Given the description of an element on the screen output the (x, y) to click on. 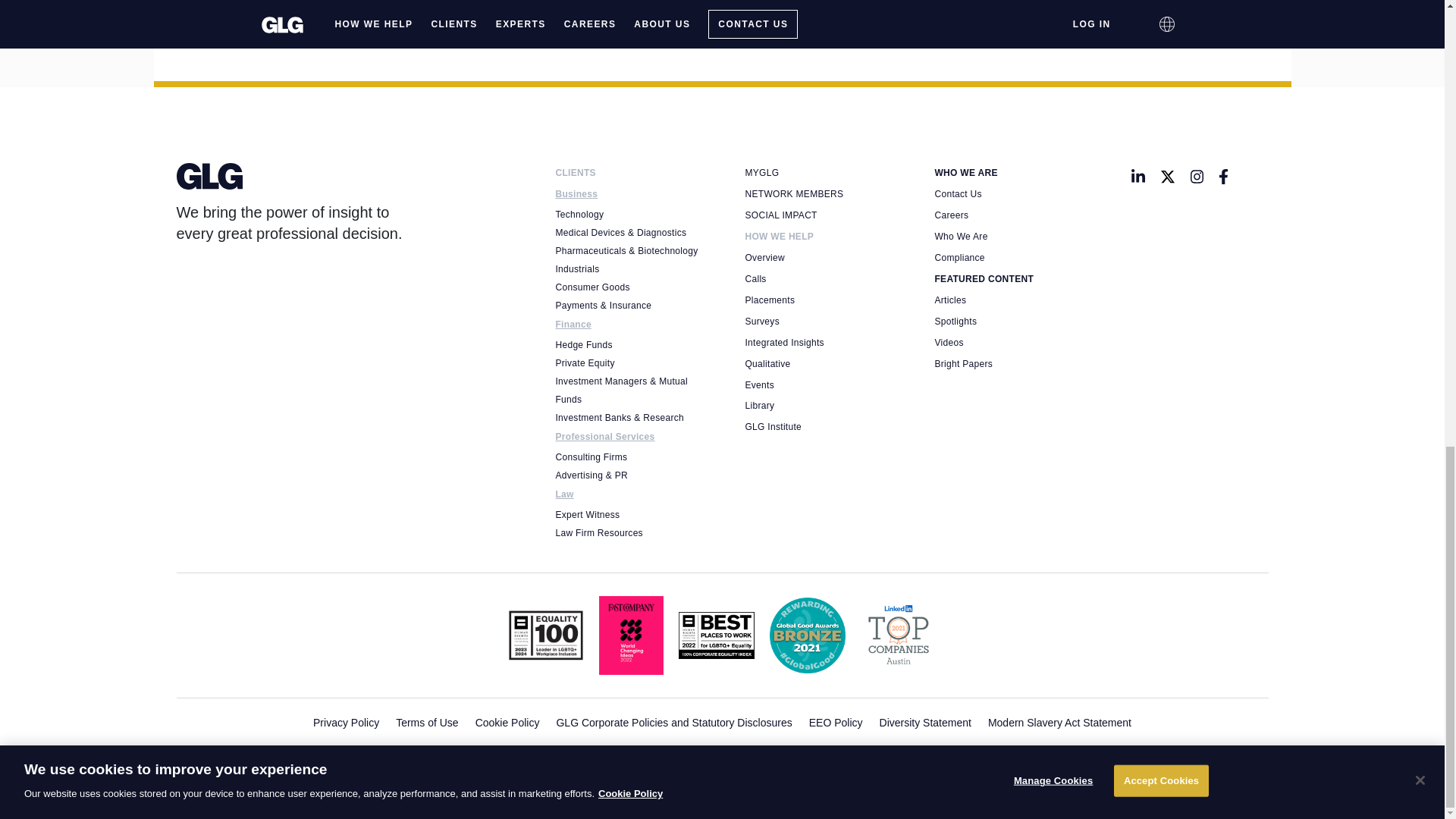
Instagram (1197, 176)
Twitter (1167, 176)
LinkedIn (1137, 176)
